Given the description of an element on the screen output the (x, y) to click on. 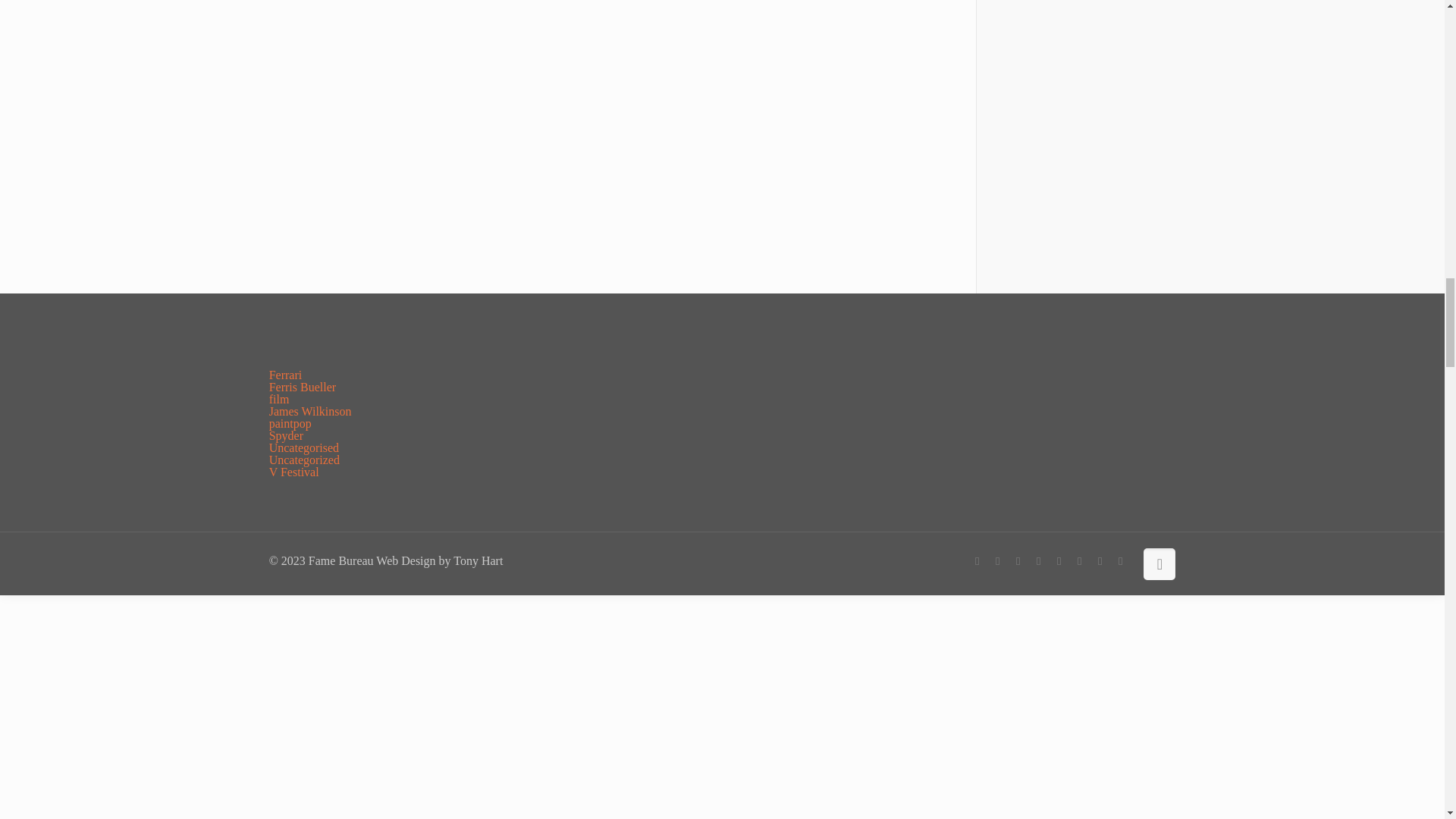
Facebook (977, 561)
LinkedIn (1079, 561)
YouTube (1038, 561)
Pinterest (1100, 561)
Twitter (1018, 561)
Instagram (1120, 561)
Flickr (1059, 561)
